Given the description of an element on the screen output the (x, y) to click on. 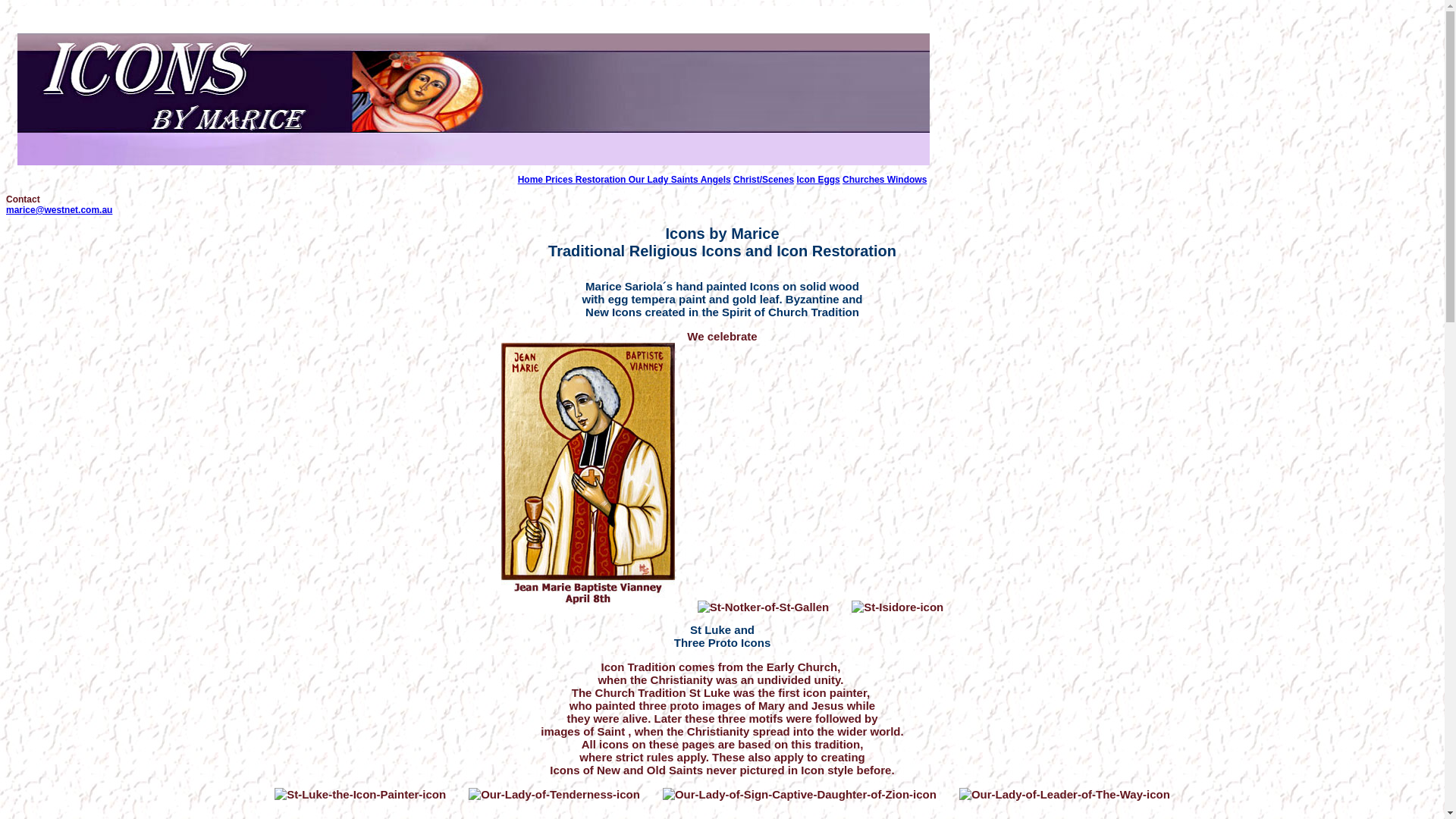
Saints Element type: text (683, 179)
Angels Element type: text (715, 179)
Windows Element type: text (907, 179)
Icon Eggs Element type: text (817, 179)
Christ/Scenes Element type: text (763, 179)
marice@westnet.com.au Element type: text (59, 209)
Restoration Element type: text (601, 179)
Home Element type: text (531, 179)
Churches Element type: text (864, 179)
Prices Element type: text (559, 179)
Our Lady Element type: text (648, 179)
